Given the description of an element on the screen output the (x, y) to click on. 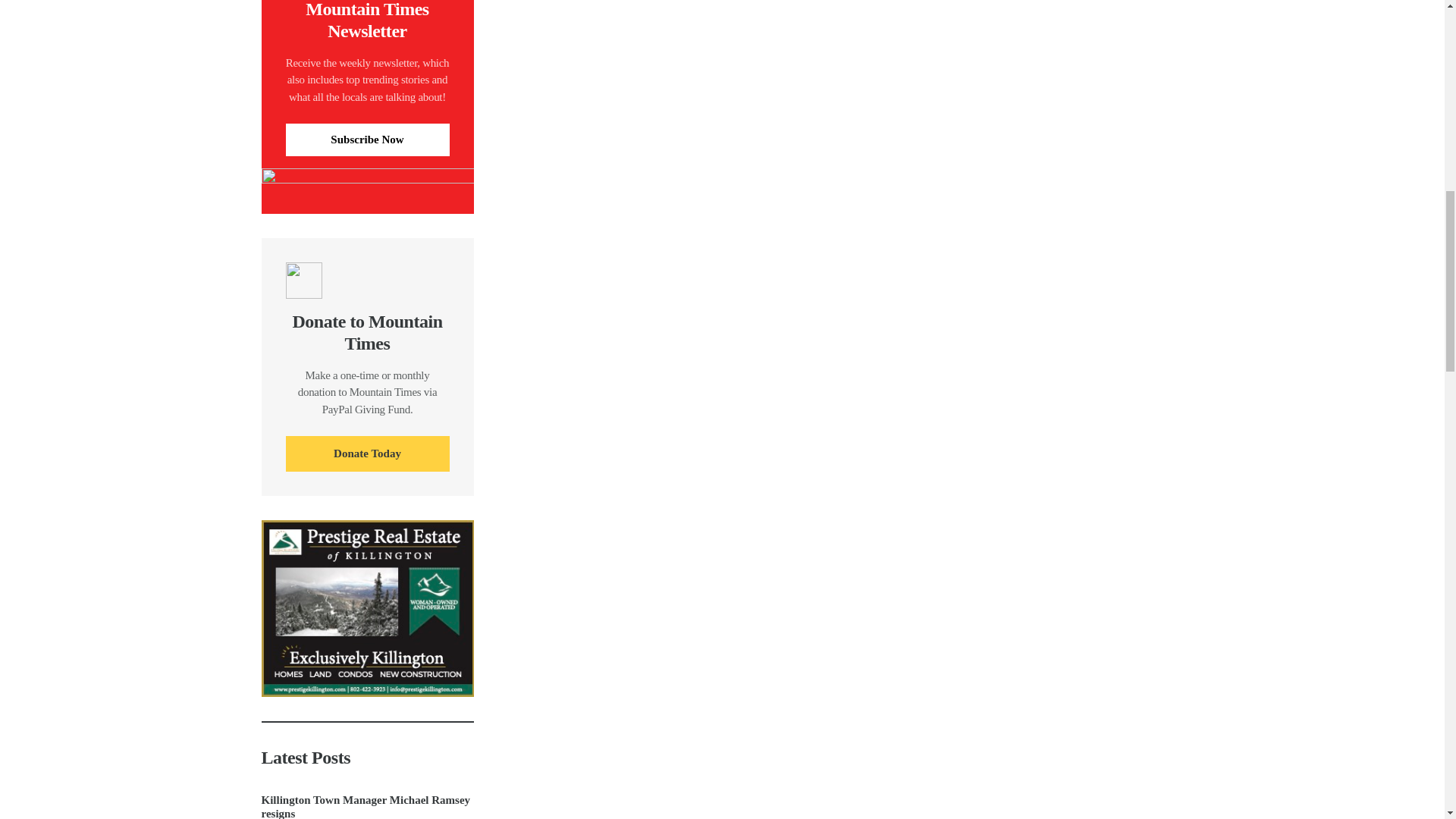
Subscribe Now (366, 139)
Donate Today (366, 453)
